Given the description of an element on the screen output the (x, y) to click on. 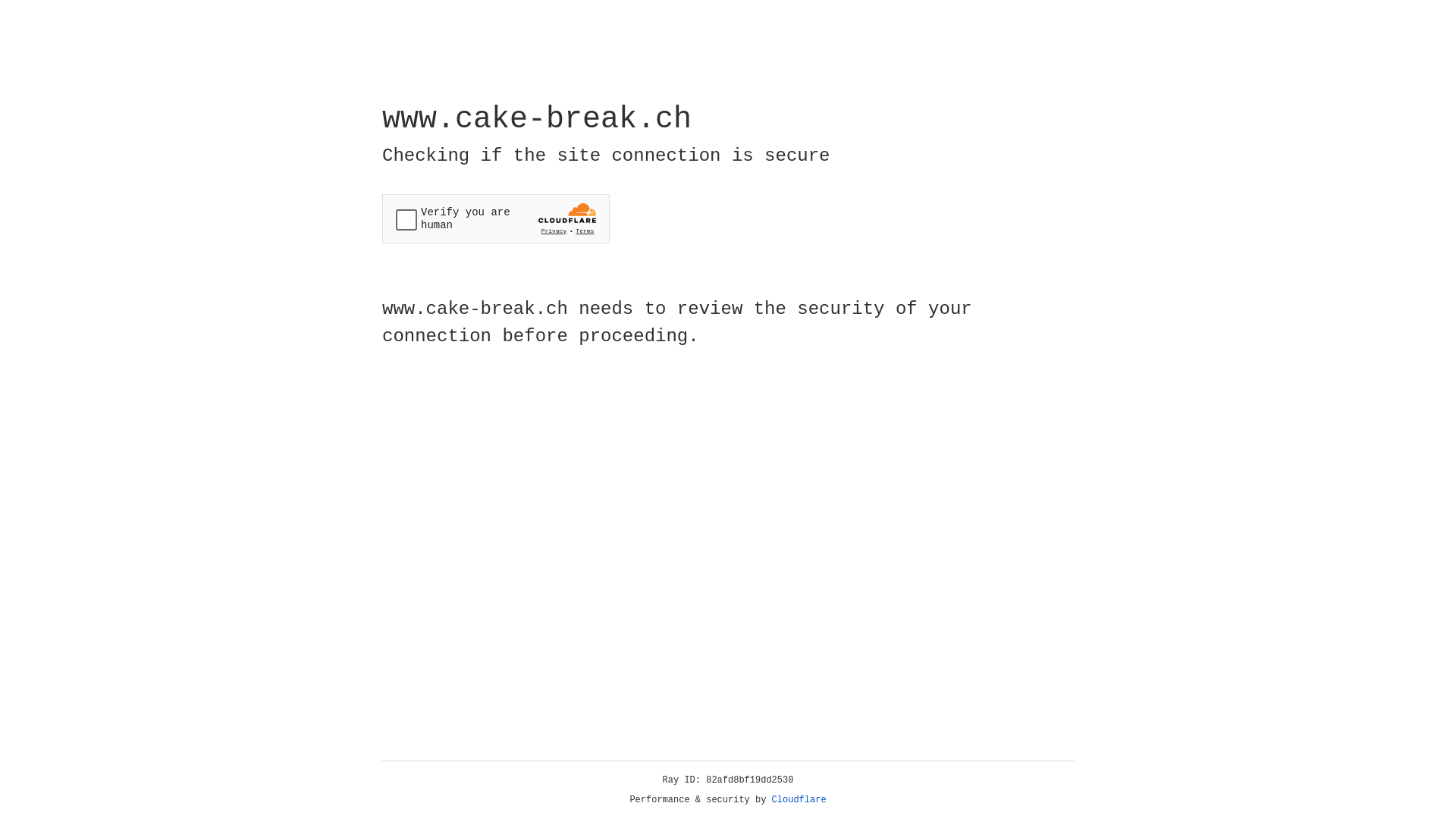
Cloudflare Element type: text (798, 799)
Widget containing a Cloudflare security challenge Element type: hover (495, 218)
